Given the description of an element on the screen output the (x, y) to click on. 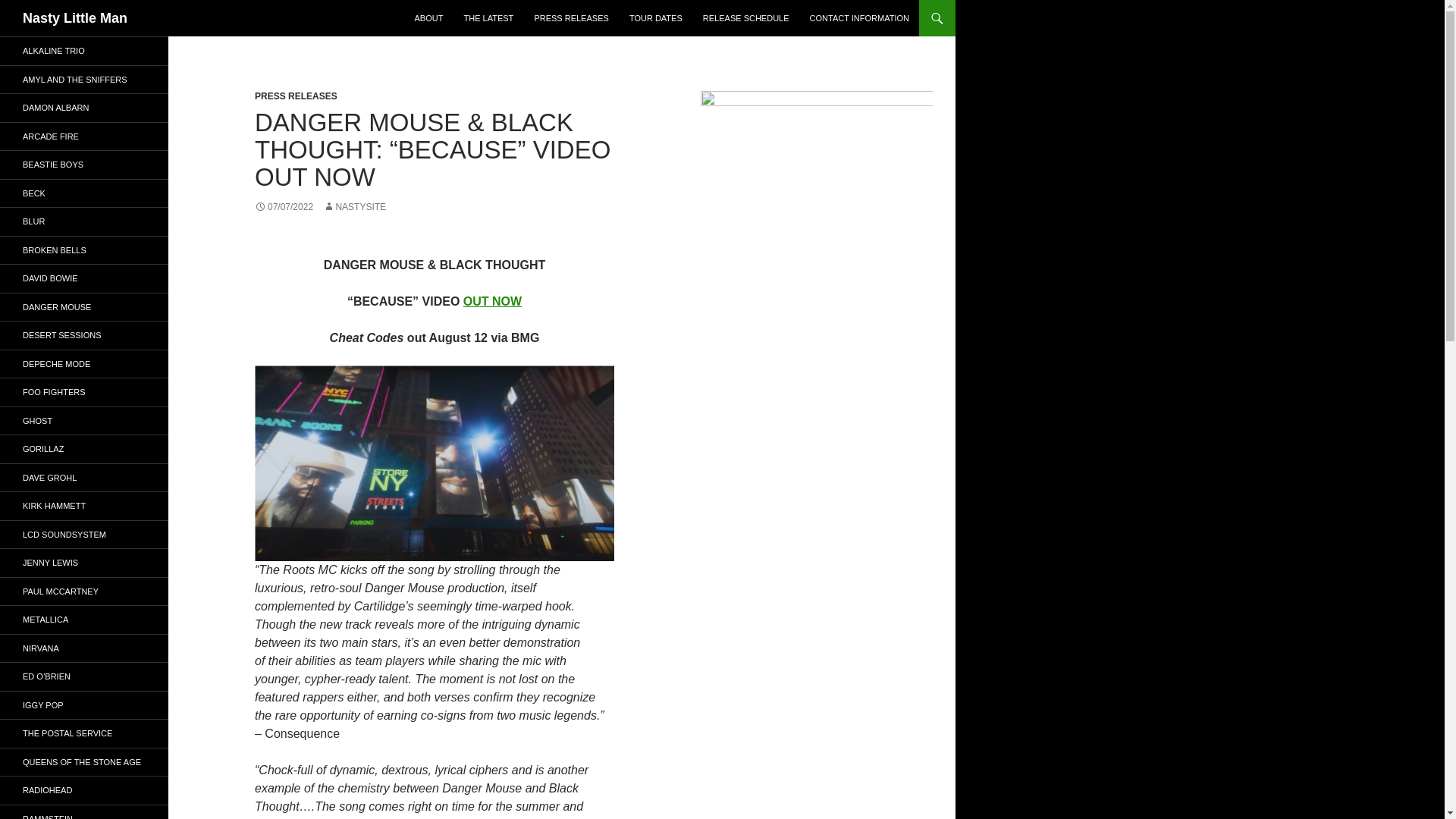
DAVE GROHL (84, 478)
DAMON ALBARN (84, 108)
FOO FIGHTERS (84, 392)
BECK (84, 193)
RELEASE SCHEDULE (745, 18)
BLUR (84, 221)
Nasty Little Man (75, 18)
DAVID BOWIE (84, 278)
THE LATEST (488, 18)
OUT NOW (492, 300)
